Given the description of an element on the screen output the (x, y) to click on. 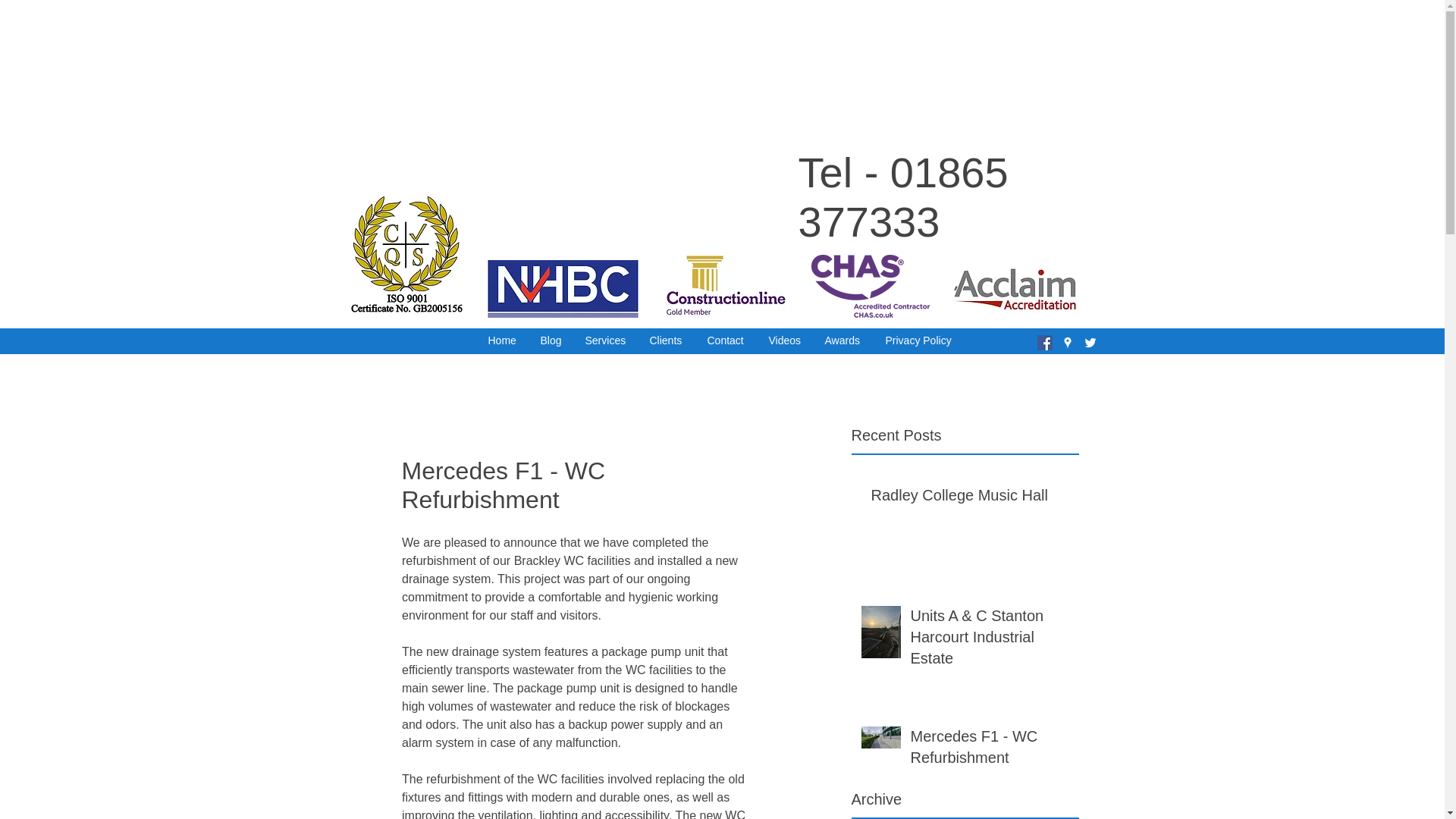
Clients (667, 341)
Contact (726, 341)
Blog (551, 341)
Mercedes F1 - WC Refurbishment (989, 749)
Radley College Music Hall (969, 497)
Privacy Policy (918, 341)
Videos (784, 341)
Services (605, 341)
Awards (842, 341)
Home (502, 341)
